Given the description of an element on the screen output the (x, y) to click on. 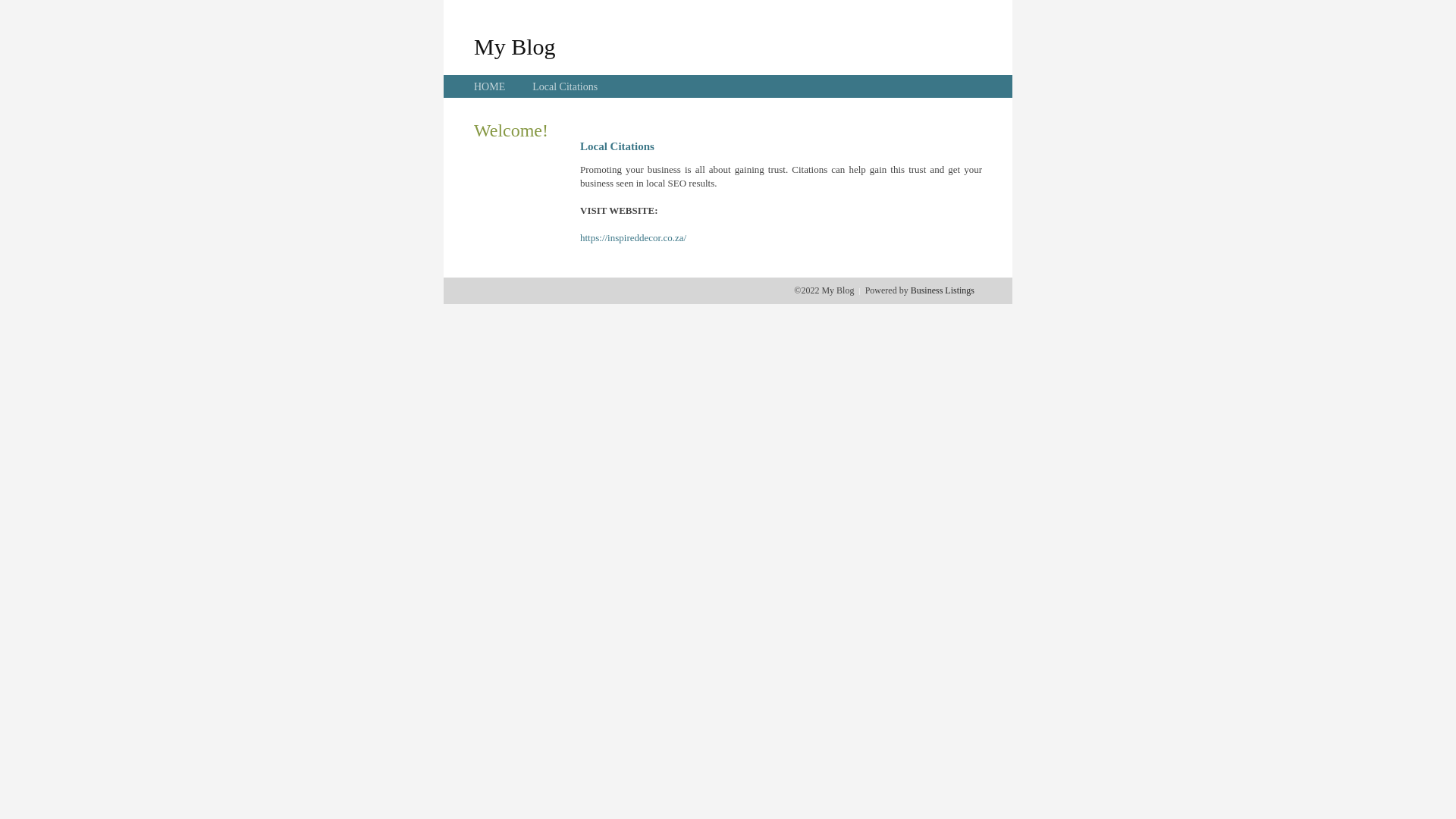
Business Listings Element type: text (942, 290)
HOME Element type: text (489, 86)
https://inspireddecor.co.za/ Element type: text (633, 237)
Local Citations Element type: text (564, 86)
My Blog Element type: text (514, 46)
